Given the description of an element on the screen output the (x, y) to click on. 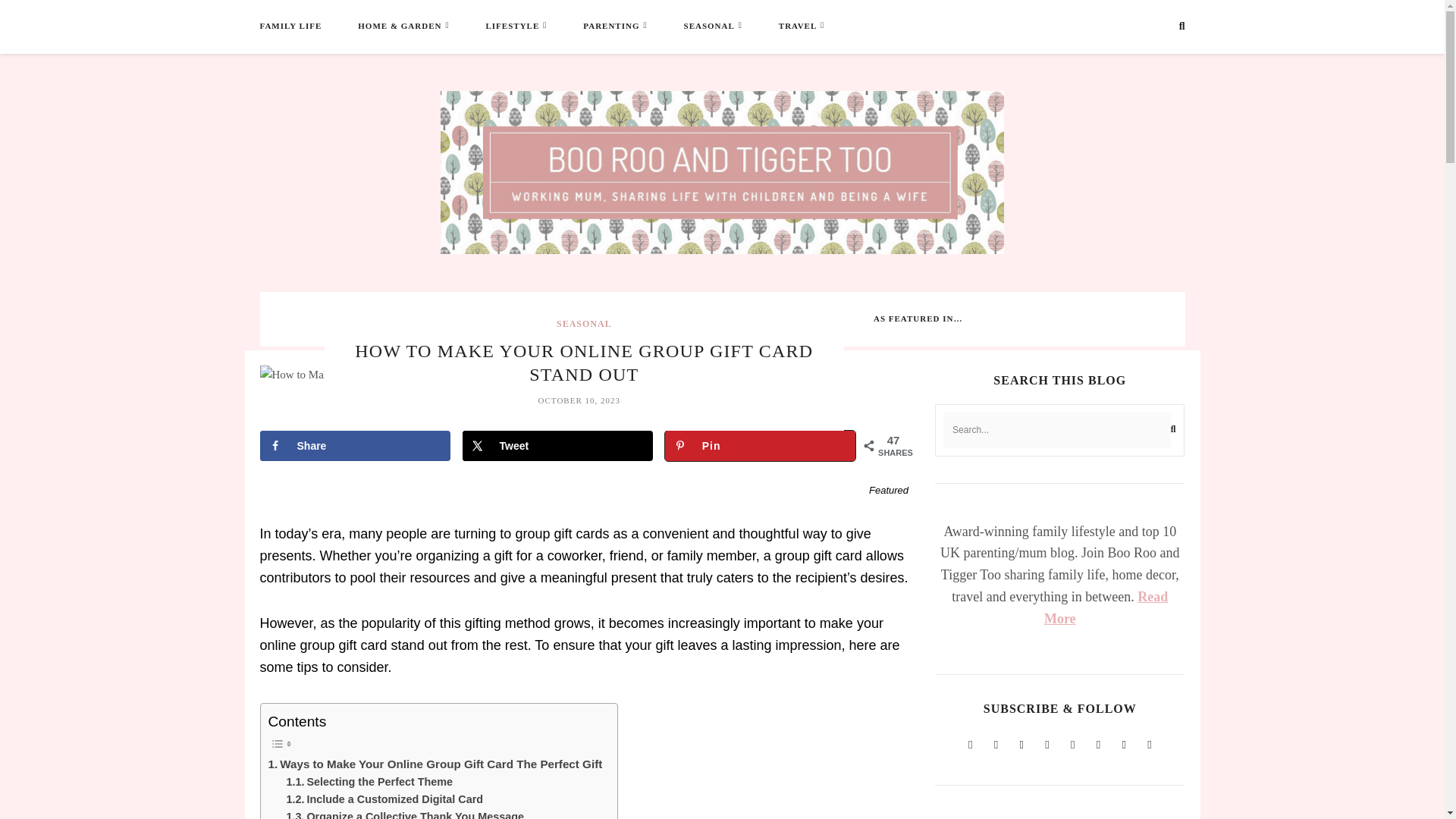
Include a Customized Digital Card (384, 799)
FAMILY LIFE (290, 25)
PARENTING (611, 25)
Selecting the Perfect Theme (369, 782)
Share on Facebook (354, 445)
Organize a Collective Thank You Message (405, 813)
Save to Pinterest (760, 445)
LIFESTYLE (511, 25)
Ways to Make Your Online Group Gift Card The Perfect Gift (434, 764)
